Given the description of an element on the screen output the (x, y) to click on. 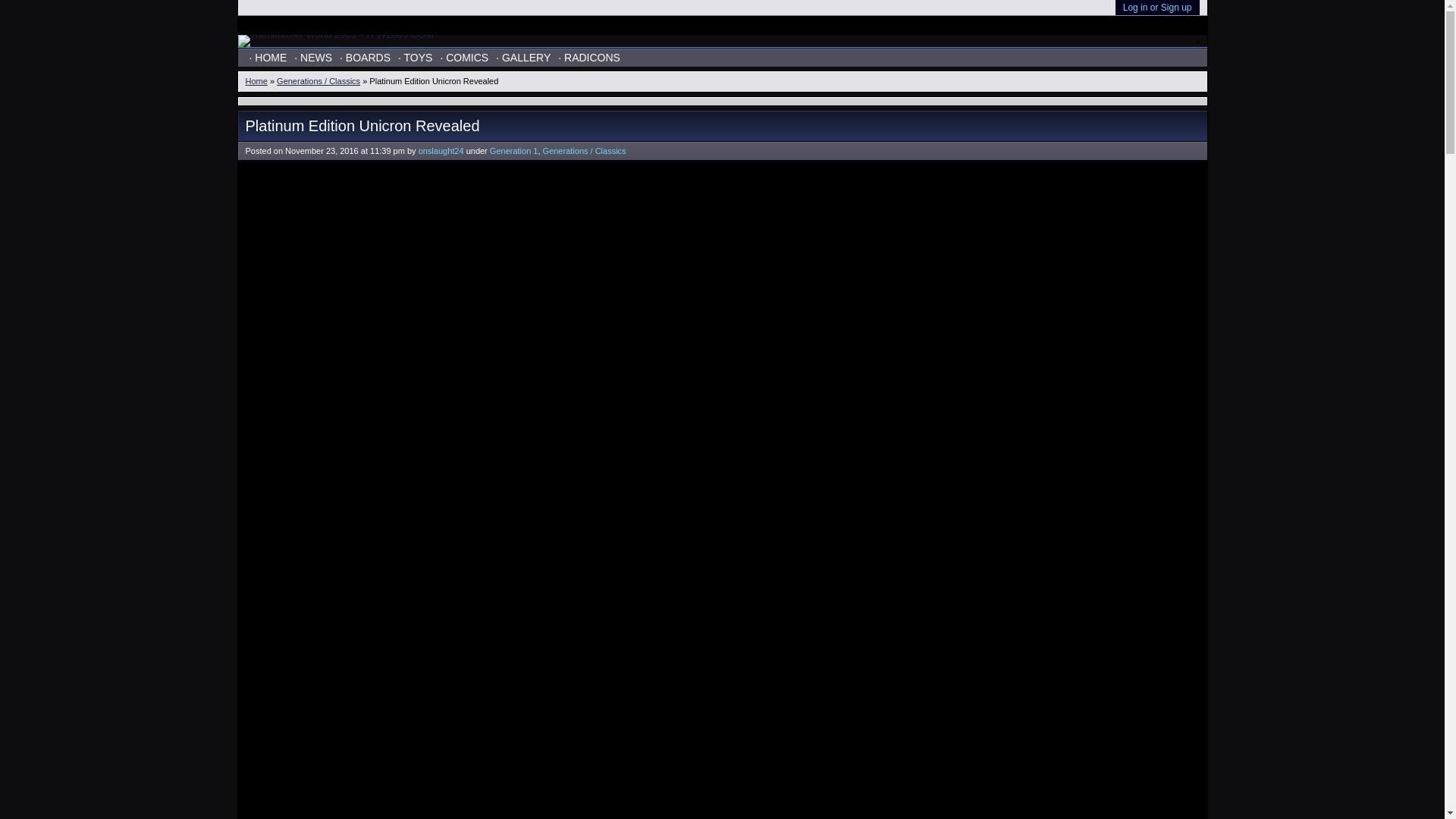
Log in or Sign up (1157, 7)
TOYS (414, 57)
Visit HissTank.com for G.I. Joe (978, 25)
Visit TFW2005.com for Transformers (891, 25)
HOME (268, 57)
BOARDS (365, 57)
Transformers Toy Gallery (523, 57)
COMICS (463, 57)
Transformer World 2005 - TFW2005.COM (335, 34)
